Given the description of an element on the screen output the (x, y) to click on. 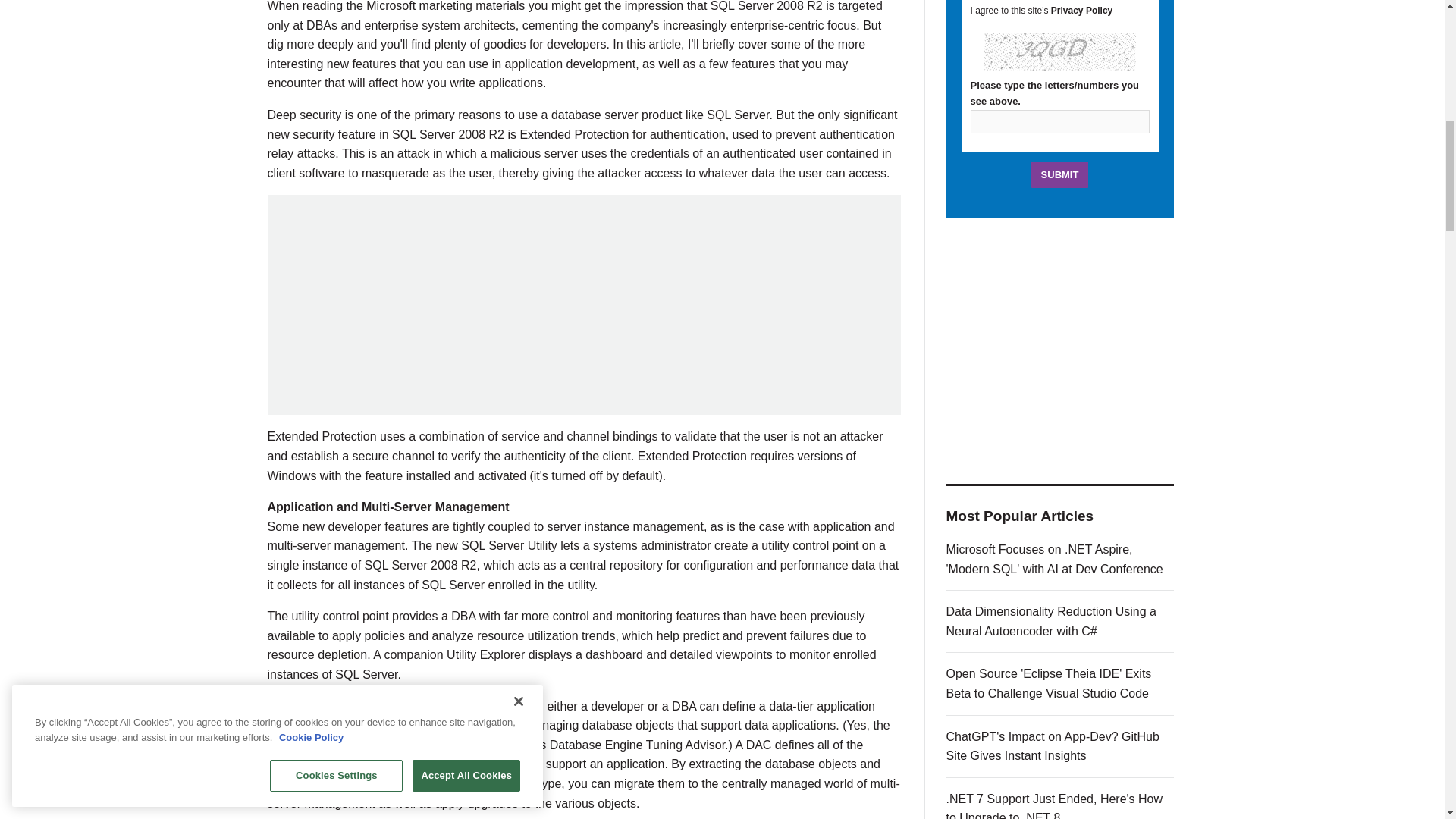
3rd party ad content (1059, 350)
3rd party ad content (583, 304)
Submit (1059, 174)
